Given the description of an element on the screen output the (x, y) to click on. 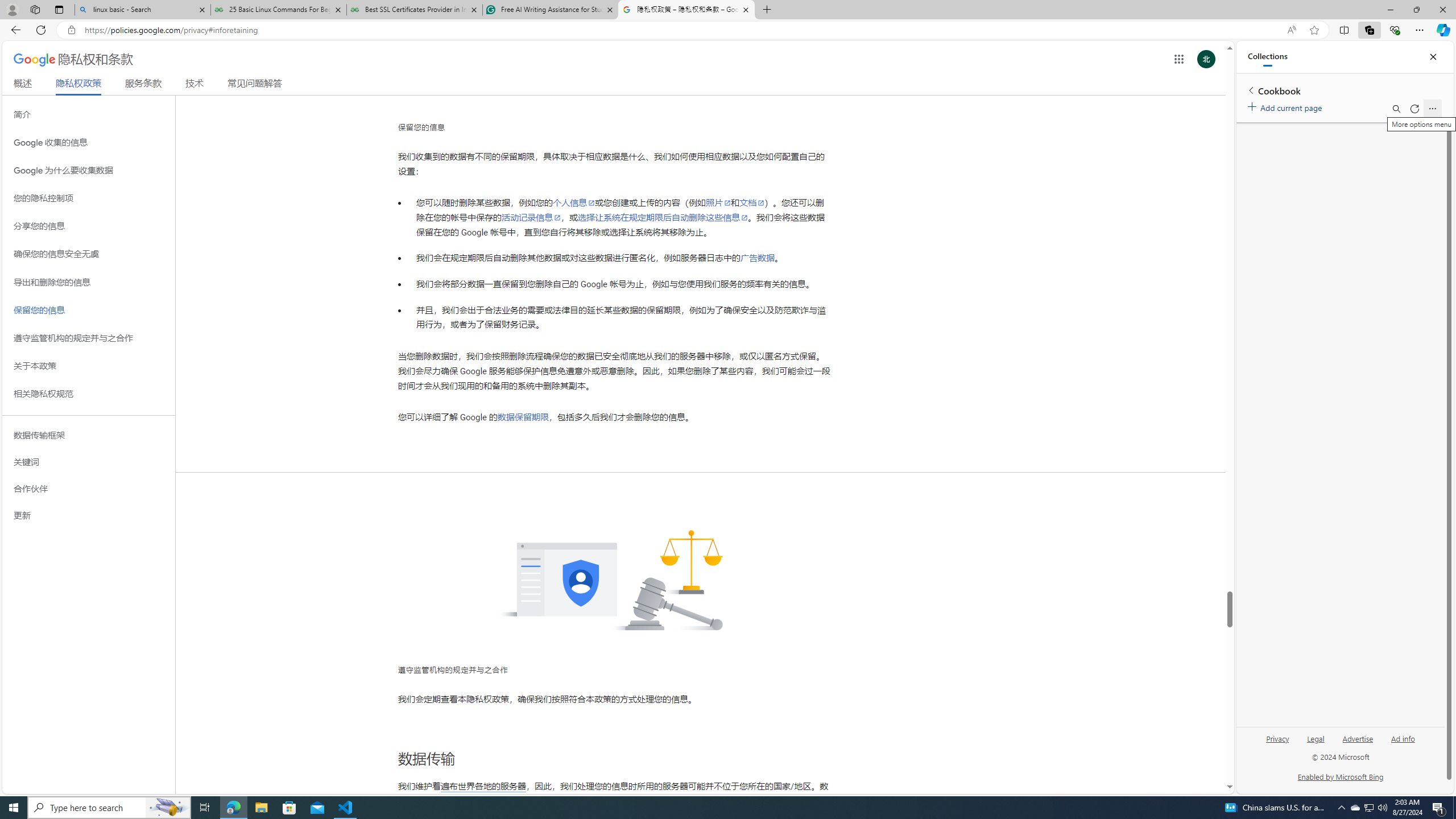
Add current page (1286, 105)
